Given the description of an element on the screen output the (x, y) to click on. 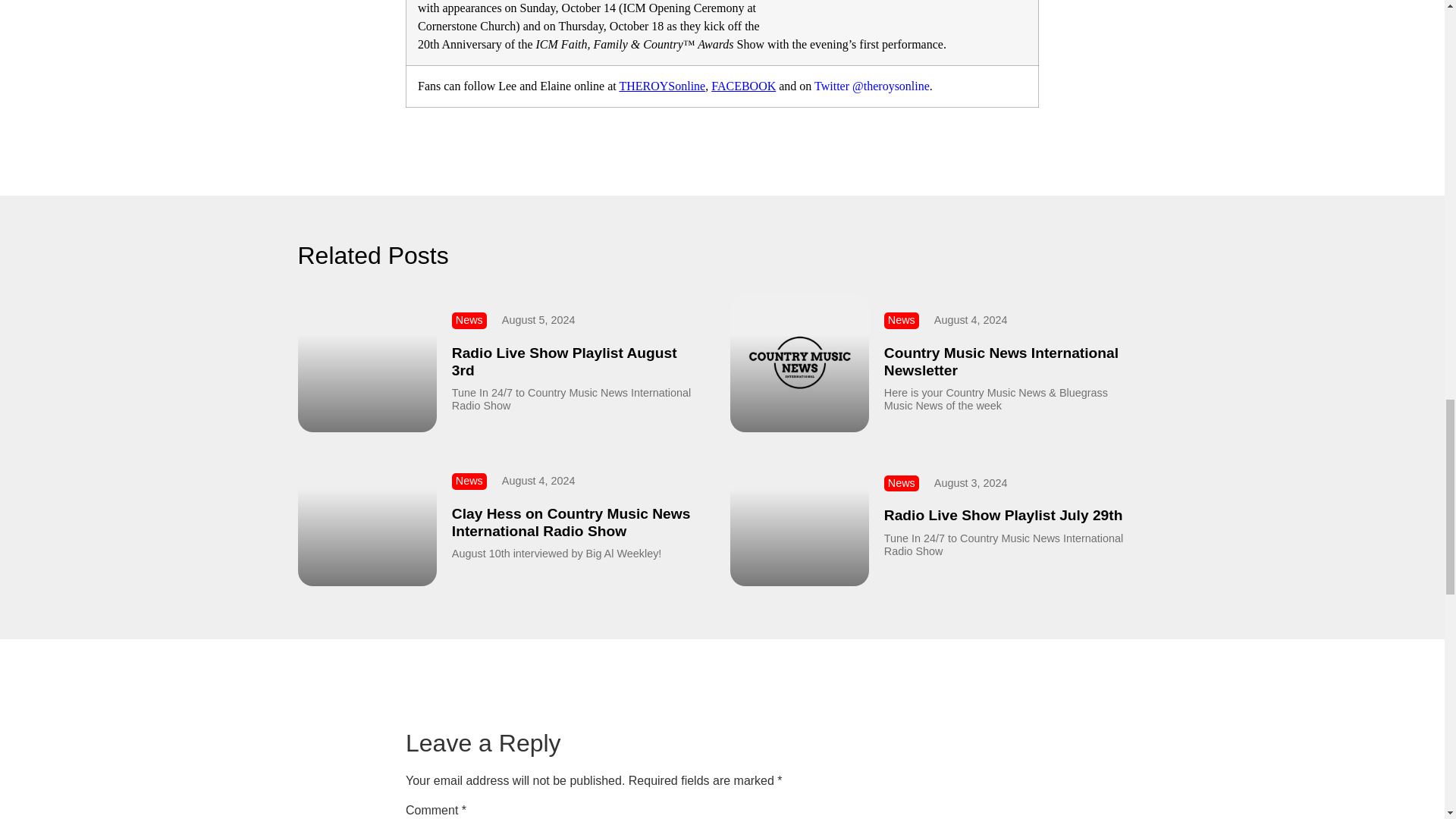
FACEBOOK (743, 85)
News (901, 482)
News (469, 480)
News (469, 319)
THEROYSonline (661, 85)
News (901, 319)
